Given the description of an element on the screen output the (x, y) to click on. 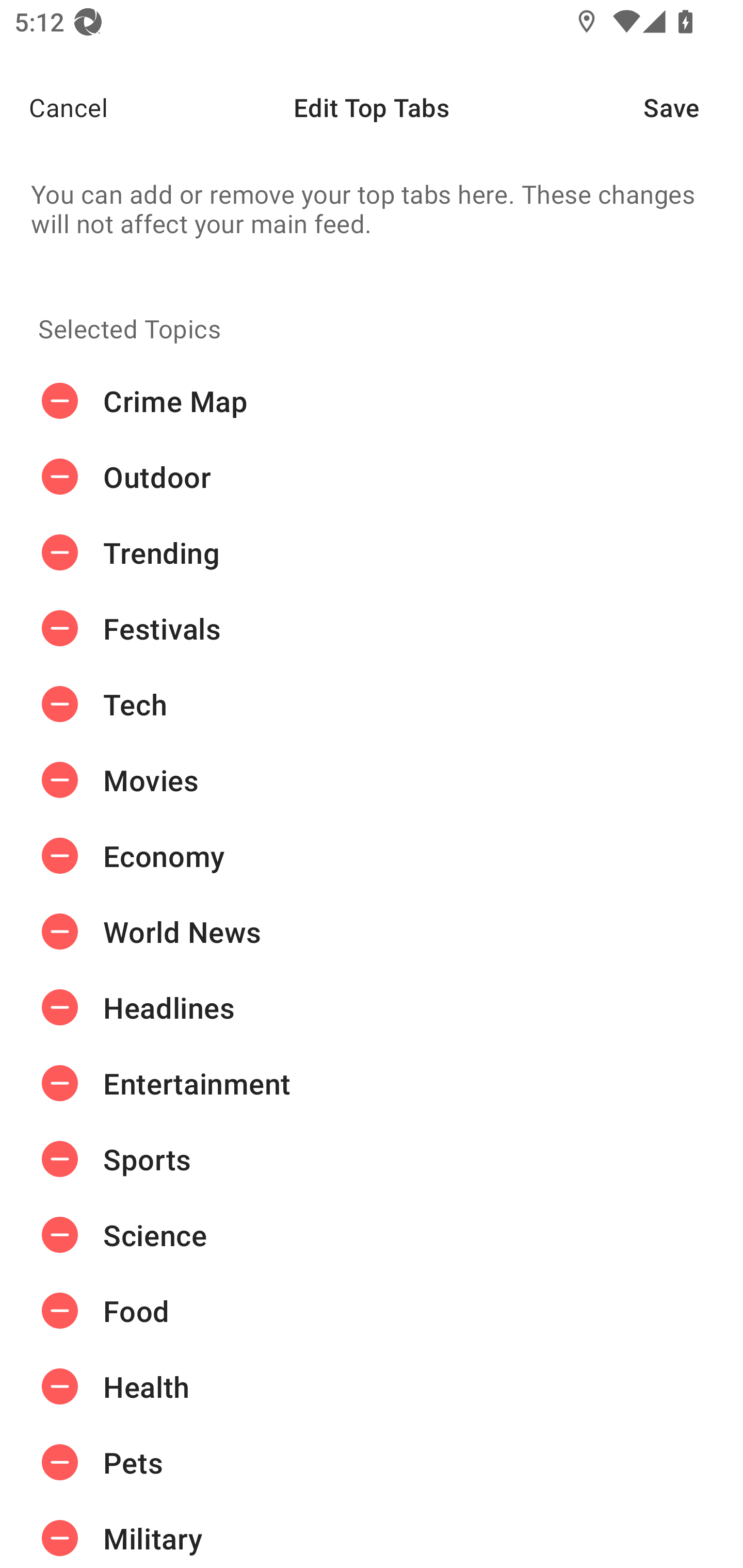
Cancel (53, 106)
Save (693, 106)
Crime Map (371, 401)
Outdoor (371, 476)
Trending (371, 552)
Festivals (371, 628)
Tech (371, 703)
Movies (371, 779)
Economy (371, 855)
World News (371, 931)
Headlines (371, 1007)
Entertainment (371, 1083)
Sports (371, 1158)
Science (371, 1234)
Food (371, 1310)
Health (371, 1386)
Pets (371, 1462)
Military (371, 1534)
